Given the description of an element on the screen output the (x, y) to click on. 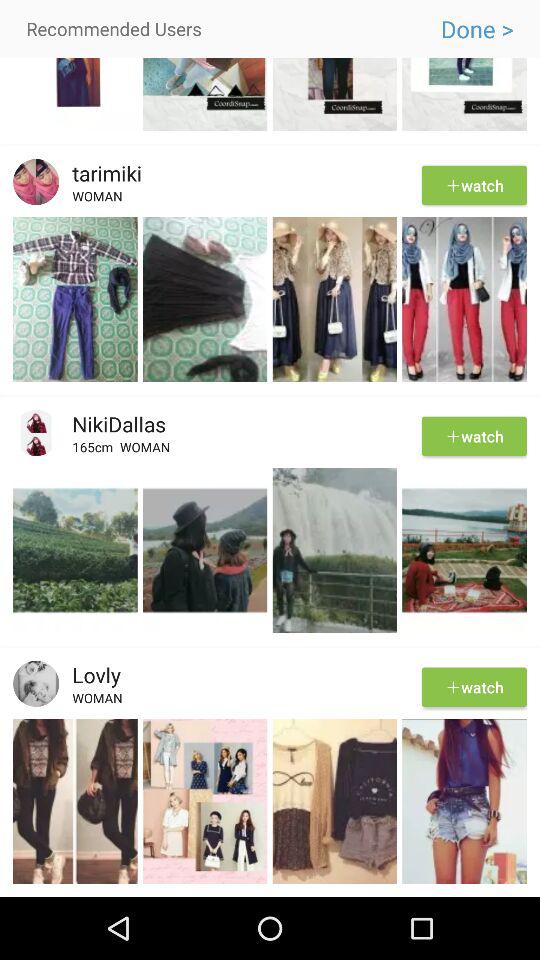
select the item above woman (90, 674)
